Given the description of an element on the screen output the (x, y) to click on. 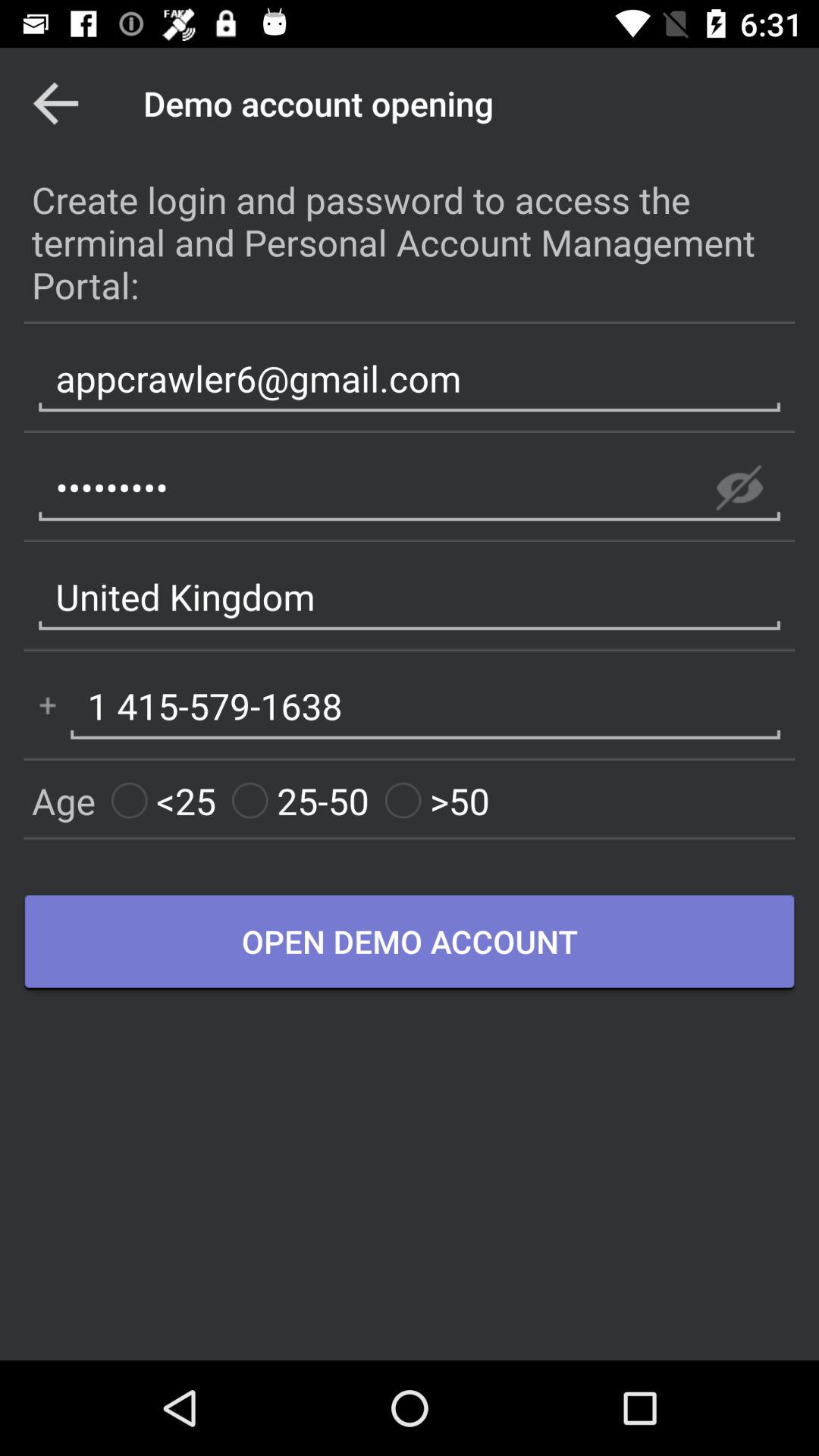
scroll until the 25-50 (300, 800)
